Given the description of an element on the screen output the (x, y) to click on. 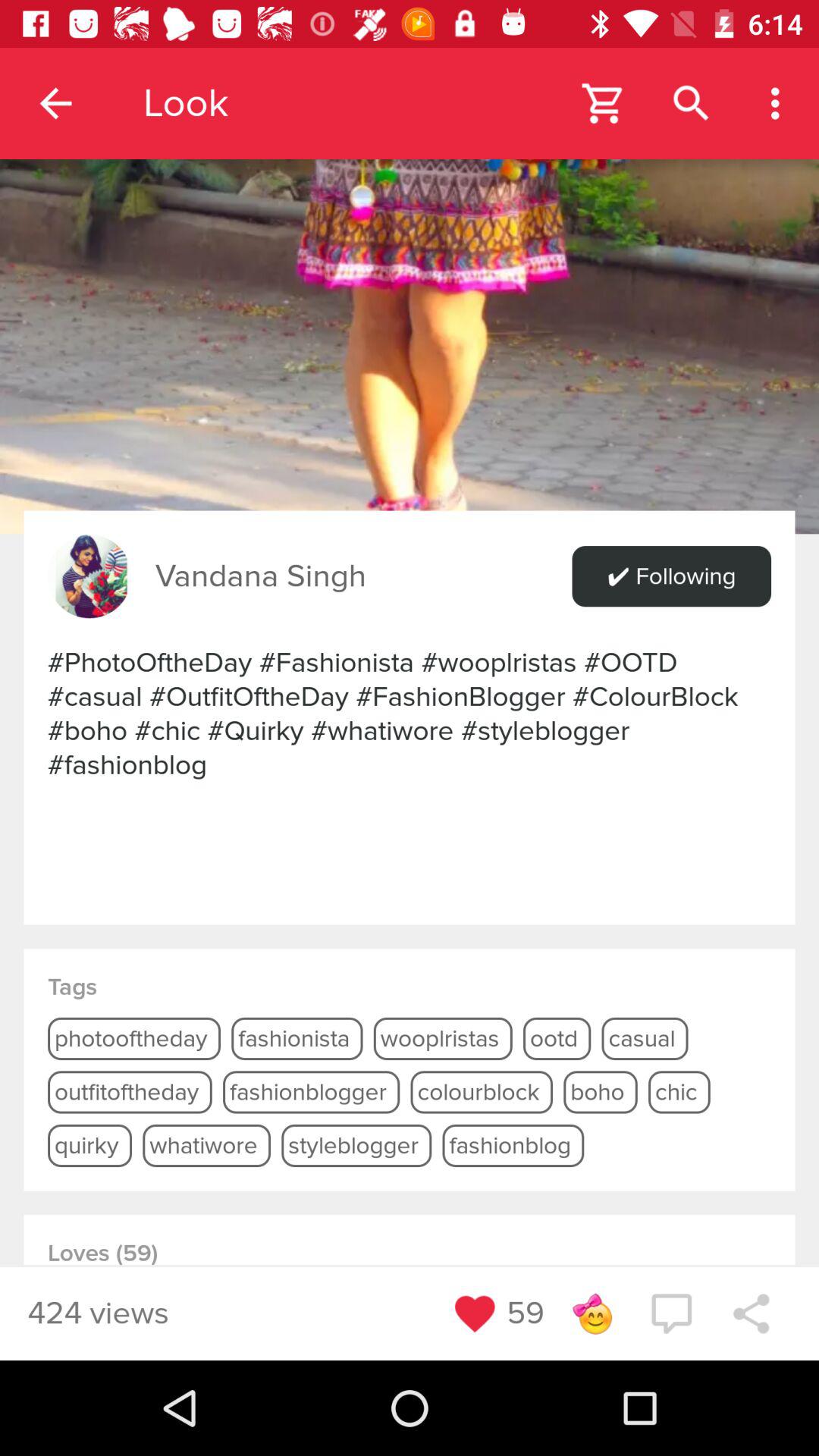
view shopping basket (603, 103)
